Given the description of an element on the screen output the (x, y) to click on. 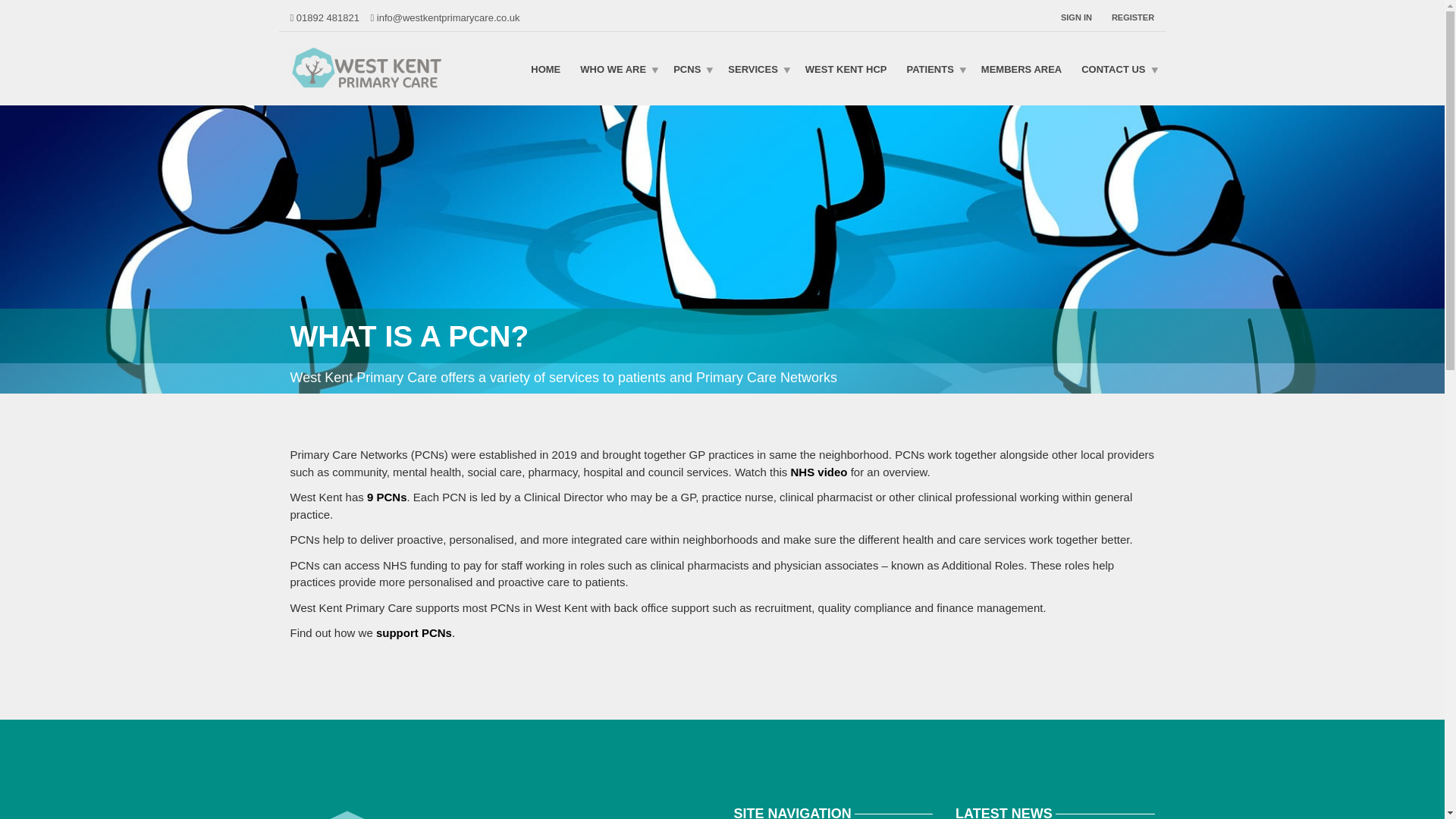
WHO WE ARE (616, 68)
Who We Are (616, 68)
Home (545, 68)
HOME (545, 68)
REGISTER (1128, 17)
PATIENTS (933, 68)
SERVICES (755, 68)
SIGN IN (1081, 17)
PCNS (690, 68)
PCNs (690, 68)
WEST KENT HCP (845, 68)
